Given the description of an element on the screen output the (x, y) to click on. 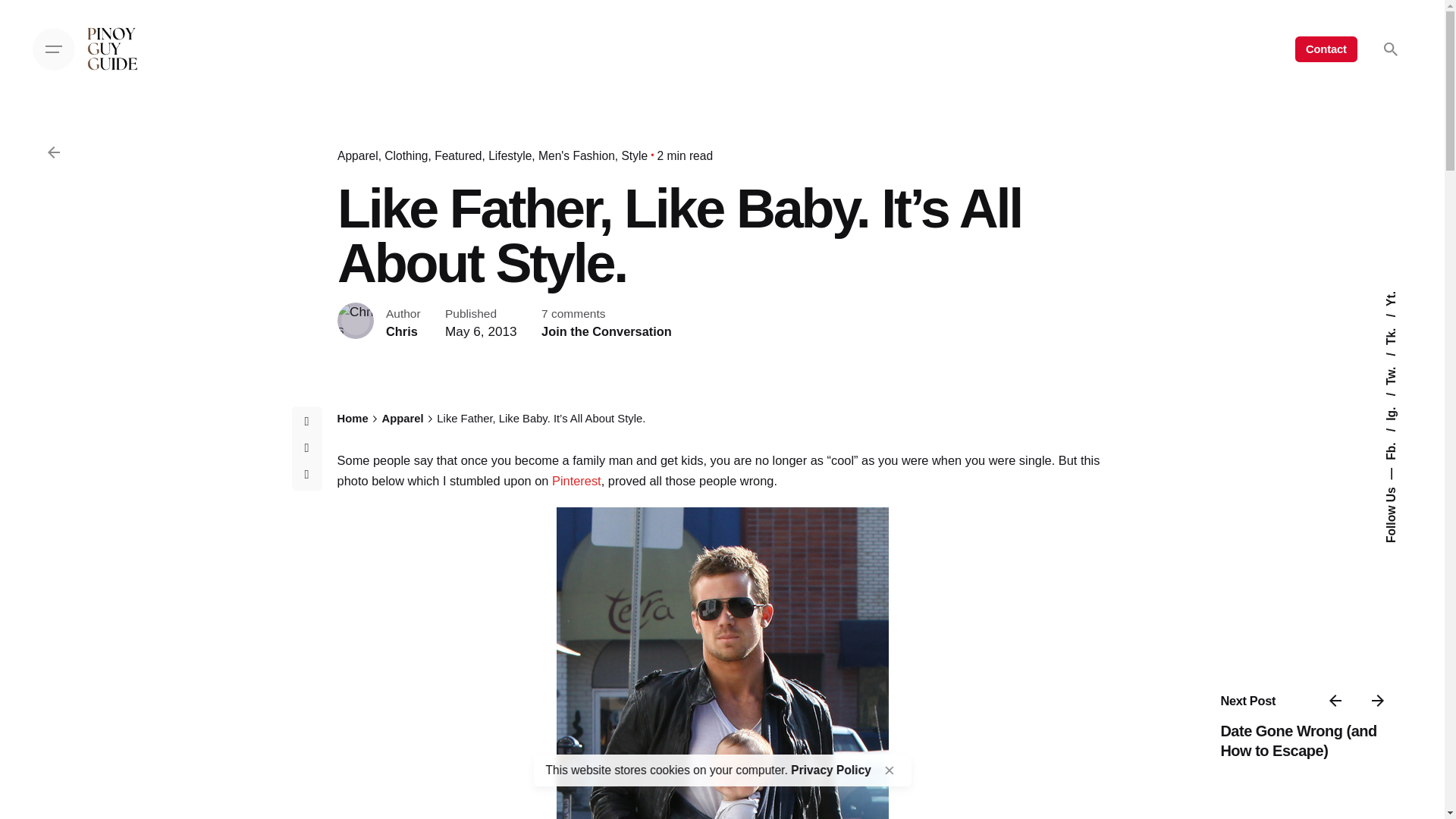
Ig. (1398, 399)
Tw. (1400, 358)
Yt. (1391, 297)
Tk. (1399, 319)
Contact (1325, 49)
Fb. (1399, 434)
